Given the description of an element on the screen output the (x, y) to click on. 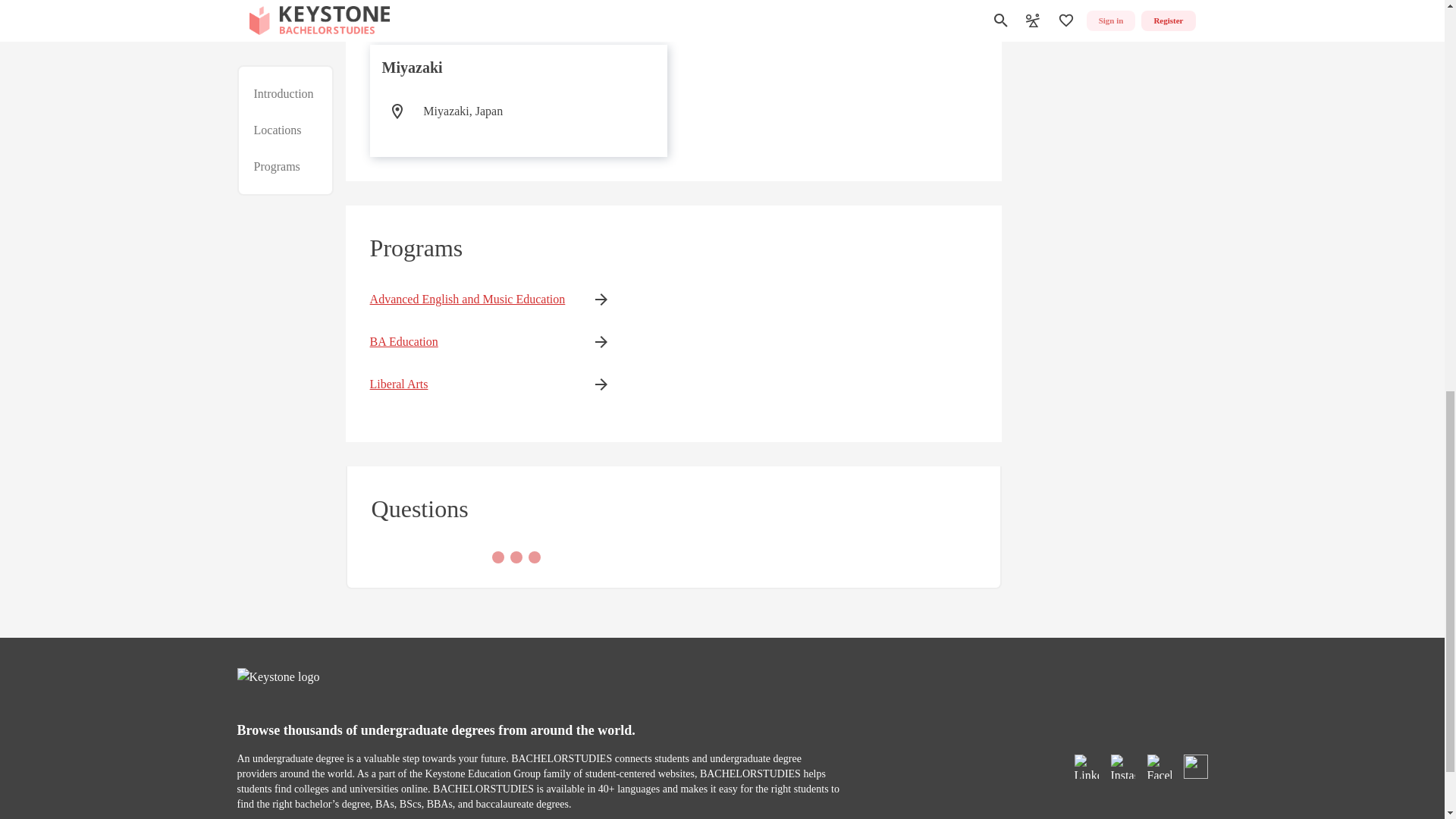
BA Education (467, 341)
Advanced English and Music Education (467, 299)
Liberal Arts (467, 384)
